Given the description of an element on the screen output the (x, y) to click on. 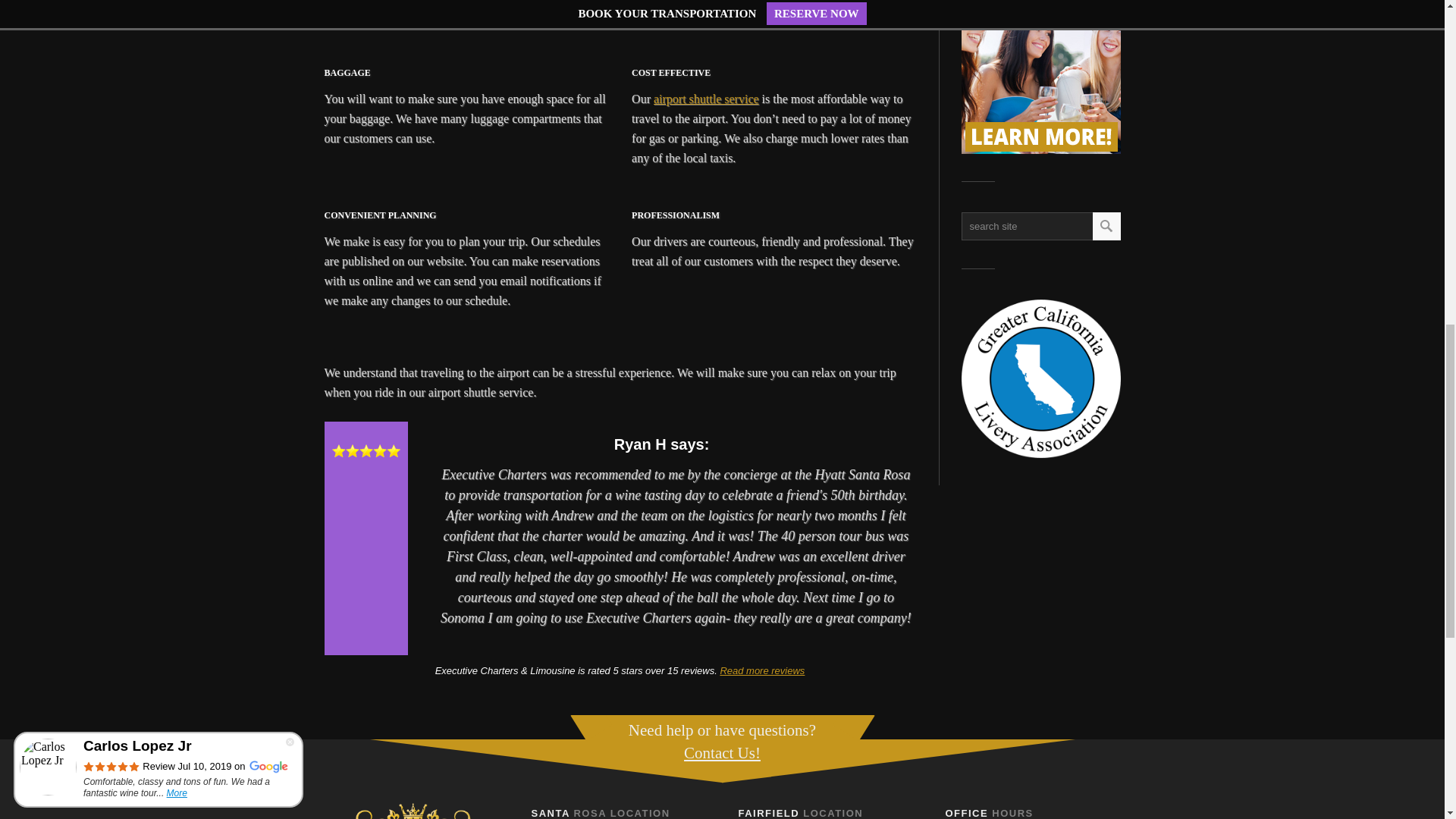
airport shuttle service (705, 98)
5 (365, 450)
Read more reviews (762, 670)
search site (1053, 226)
